Given the description of an element on the screen output the (x, y) to click on. 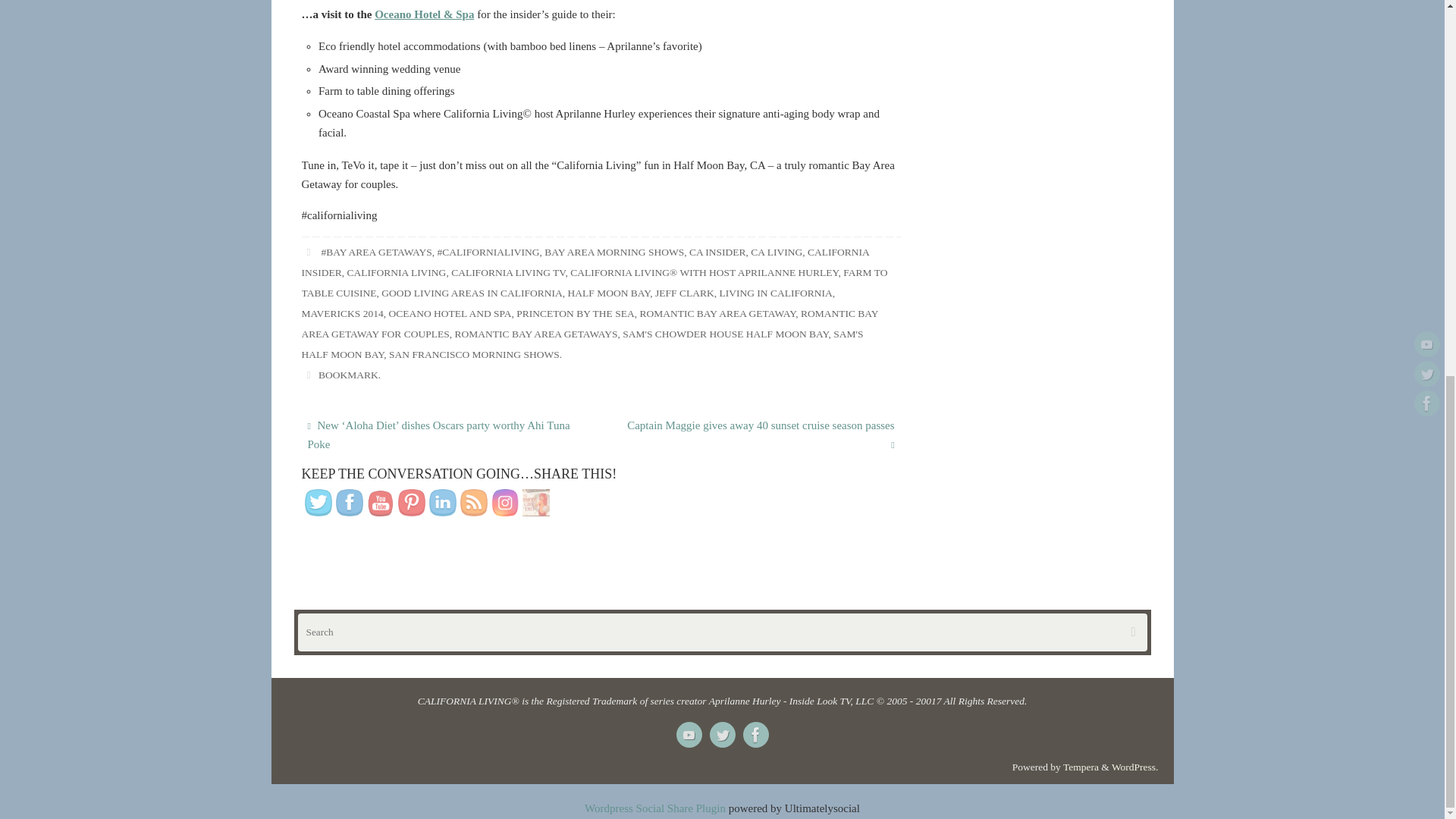
CA LIVING (776, 251)
Tagged (308, 251)
CALIFORNIA INSIDER (585, 262)
CALIFORNIA LIVING TV (507, 272)
GOOD LIVING AREAS IN CALIFORNIA (471, 292)
CA INSIDER (716, 251)
BAY AREA MORNING SHOWS (614, 251)
CALIFORNIA LIVING (396, 272)
 Bookmark the permalink (308, 374)
FARM TO TABLE CUISINE (594, 282)
